Given the description of an element on the screen output the (x, y) to click on. 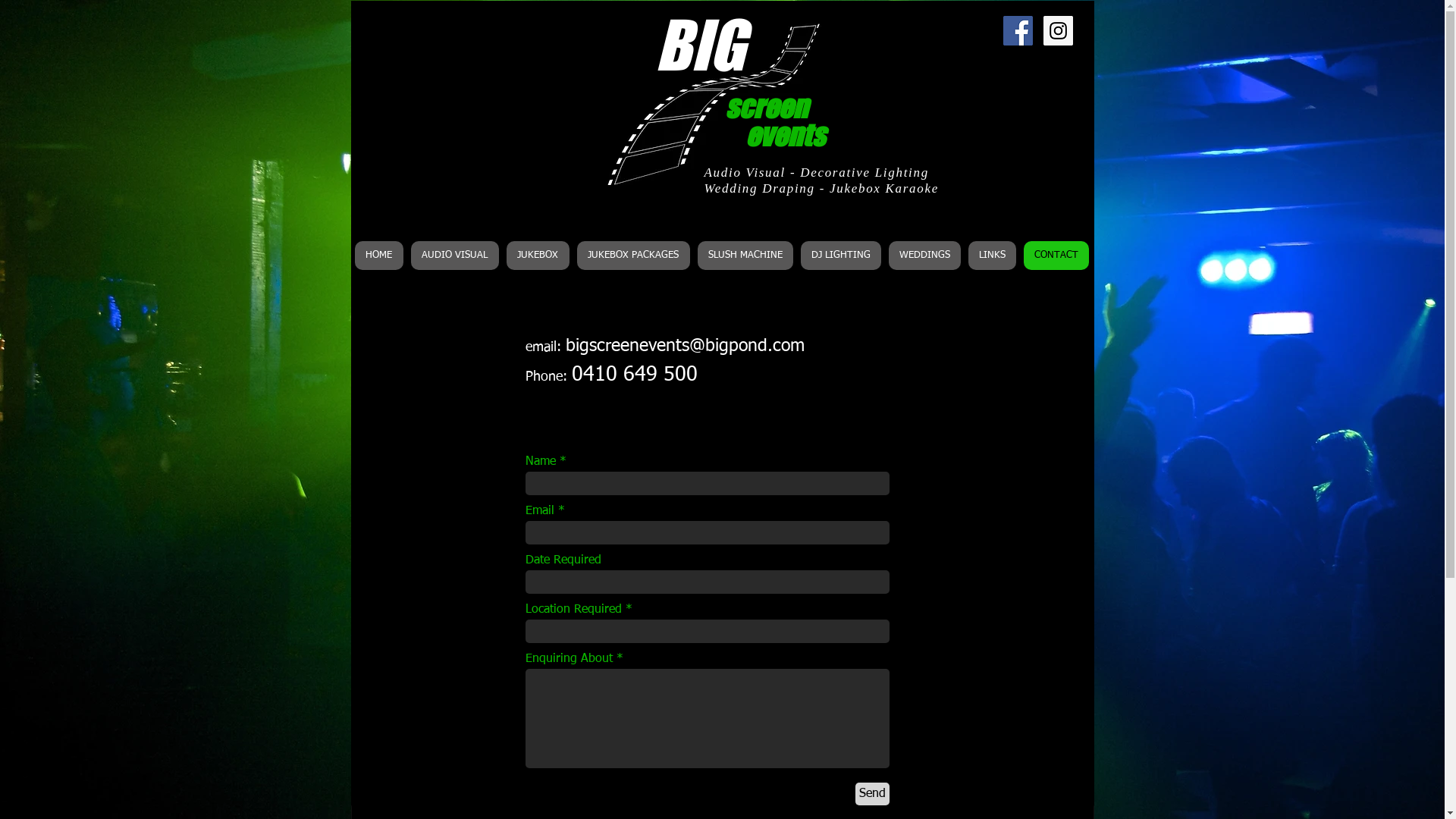
SLUSH MACHINE Element type: text (745, 255)
JUKEBOX PACKAGES Element type: text (632, 255)
DJ LIGHTING Element type: text (840, 255)
HOME Element type: text (378, 255)
CONTACT Element type: text (1055, 255)
JUKEBOX Element type: text (537, 255)
Send Element type: text (872, 793)
bigscreenevents@bigpond.com Element type: text (684, 345)
LINKS Element type: text (991, 255)
AUDIO VISUAL Element type: text (454, 255)
WEDDINGS Element type: text (924, 255)
